Given the description of an element on the screen output the (x, y) to click on. 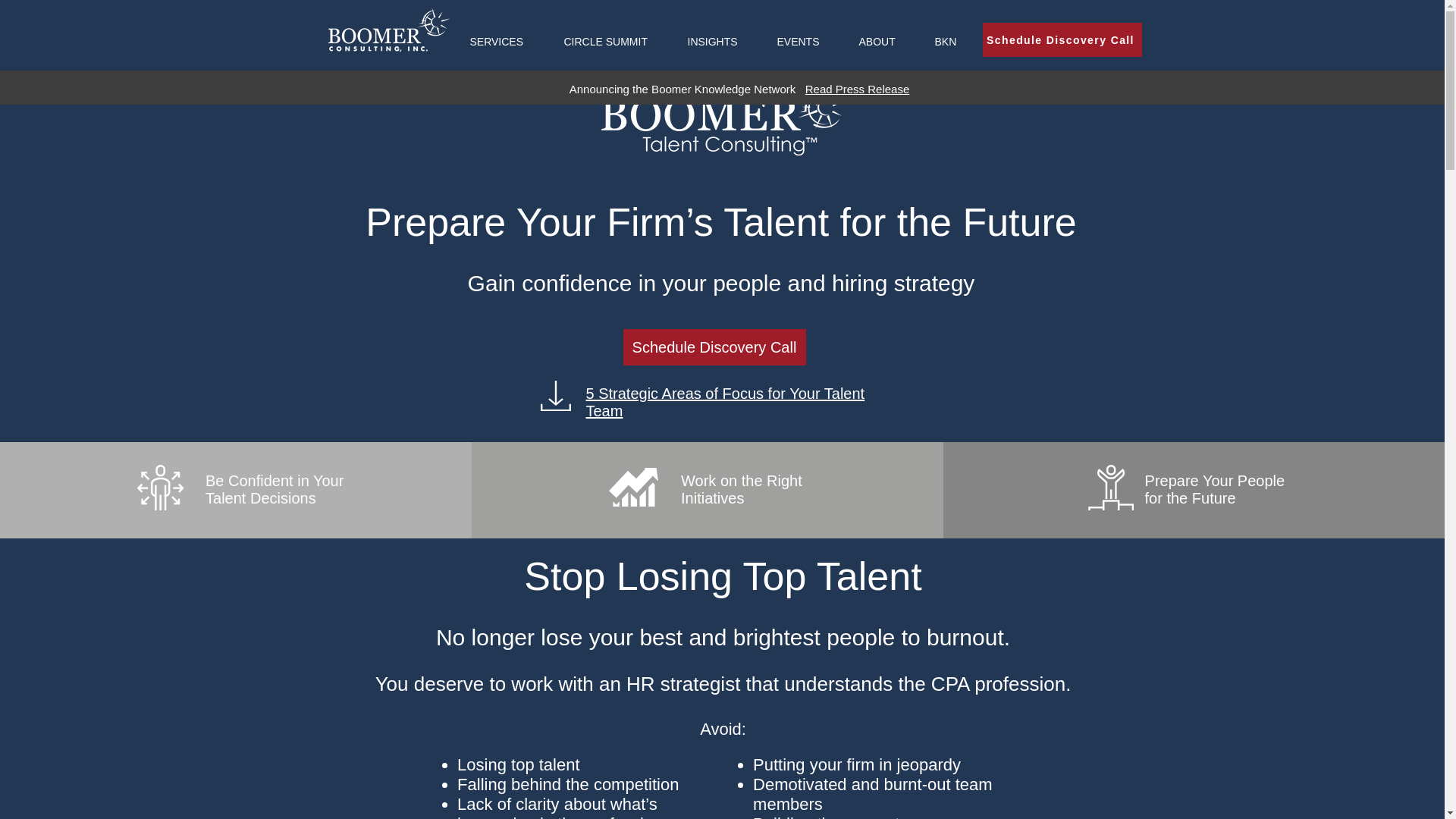
BKN (954, 41)
Schedule Discovery Call (714, 347)
Schedule Discovery Call (1061, 39)
CIRCLE SUMMIT (613, 41)
Announcing the Boomer Knowledge Network   Read Press Release (739, 88)
5 Strategic Areas of Focus for Your Talent Team (724, 401)
SERVICES (504, 41)
